Given the description of an element on the screen output the (x, y) to click on. 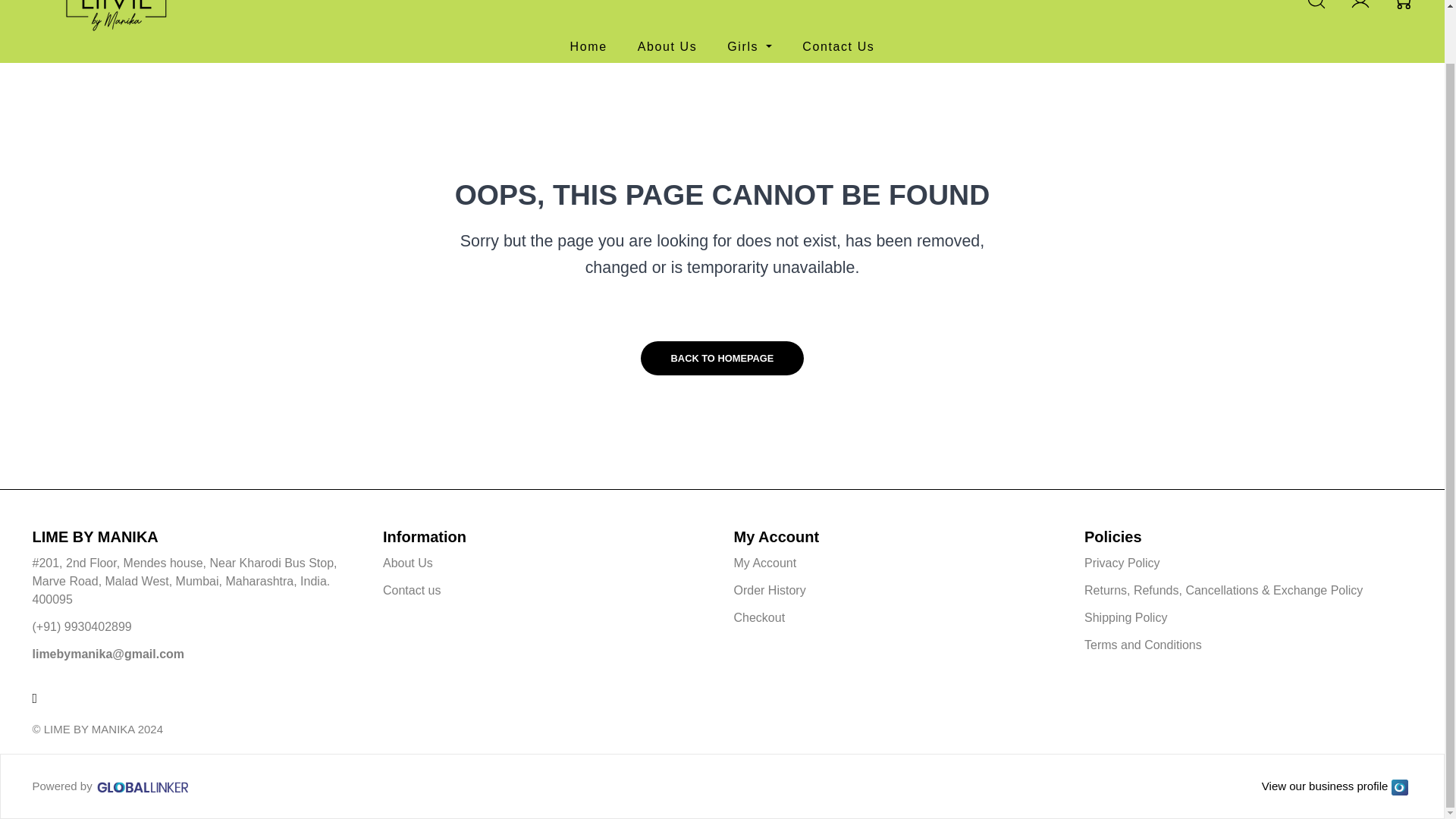
About Us (407, 562)
Girls (748, 46)
BACK TO HOMEPAGE (722, 358)
Home (588, 46)
back to homepage (722, 358)
0 (1402, 4)
About Us (667, 46)
Contact Us (838, 46)
